Given the description of an element on the screen output the (x, y) to click on. 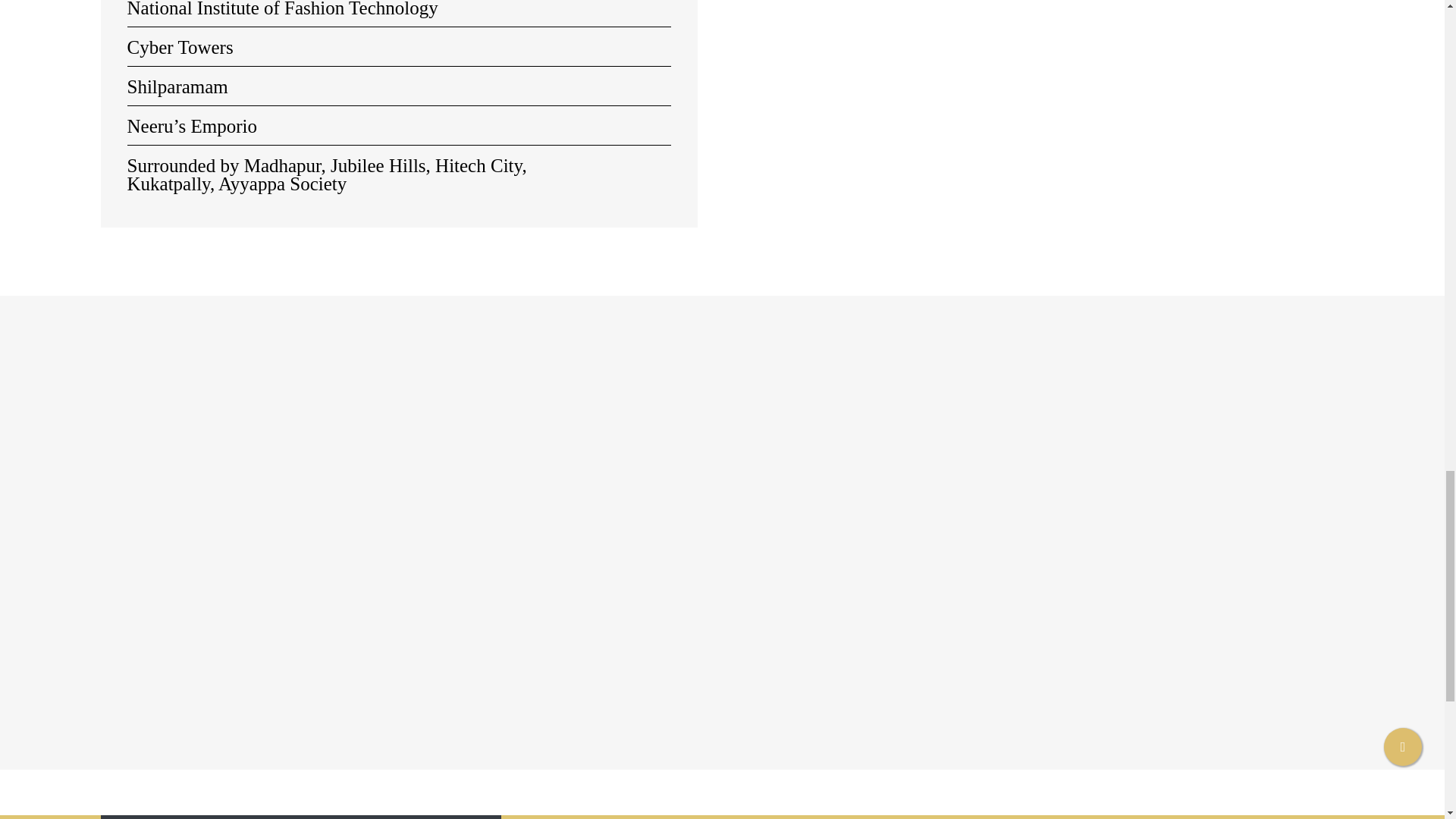
Connect With Us (1360, 735)
